Given the description of an element on the screen output the (x, y) to click on. 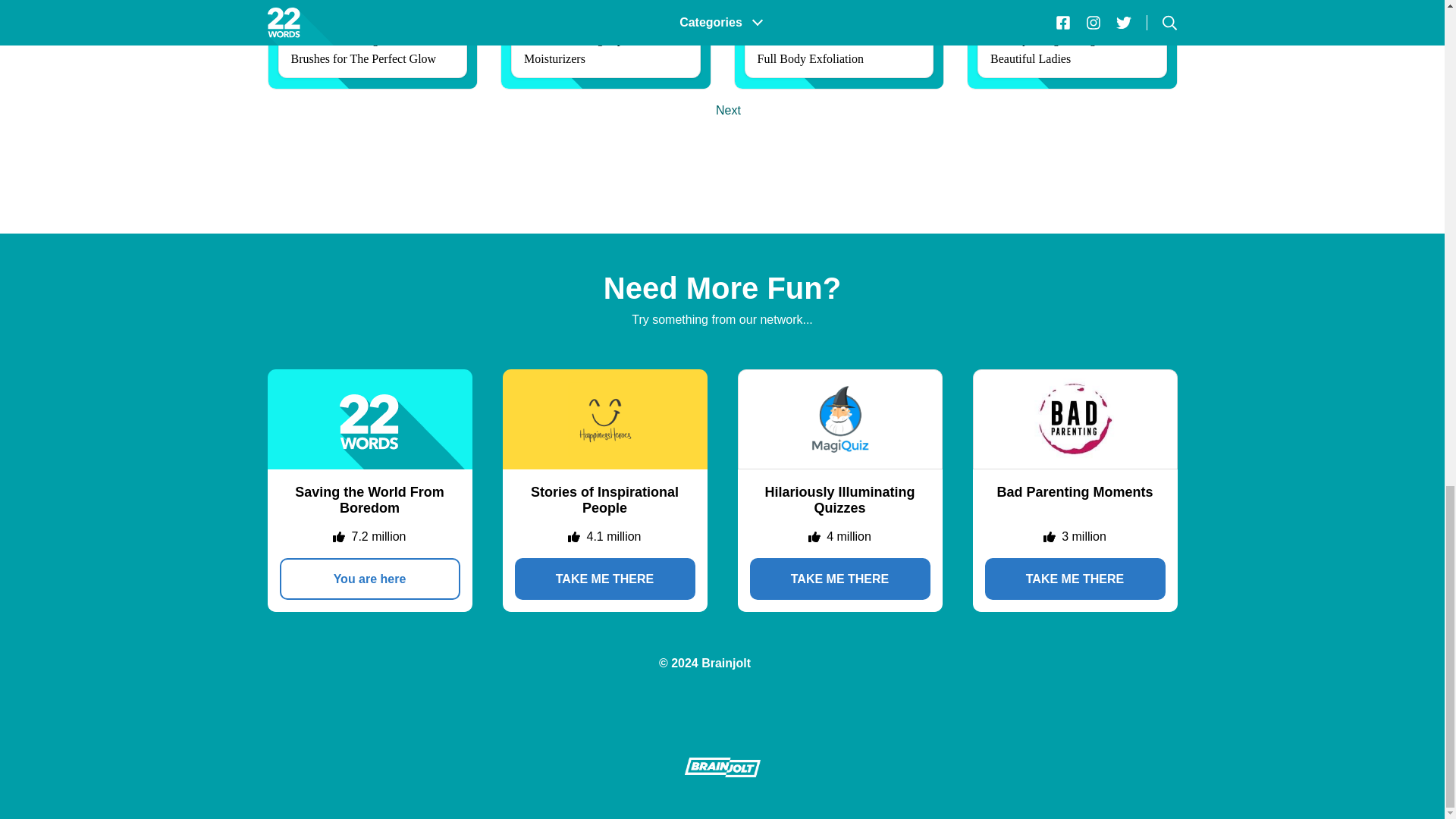
TAKE ME THERE (1074, 578)
Best Eye-Brightening Cream for Beautiful Ladies (1071, 44)
Best Exfoliating Lip Scrub And Moisturizers (605, 44)
Best Brushes and Scrubbers for Full Body Exfoliation (838, 44)
You are here (369, 578)
TAKE ME THERE (839, 578)
Next (728, 110)
TAKE ME THERE (603, 578)
Best Self-Tanning Lotions And Brushes for The Perfect Glow (371, 44)
